Given the description of an element on the screen output the (x, y) to click on. 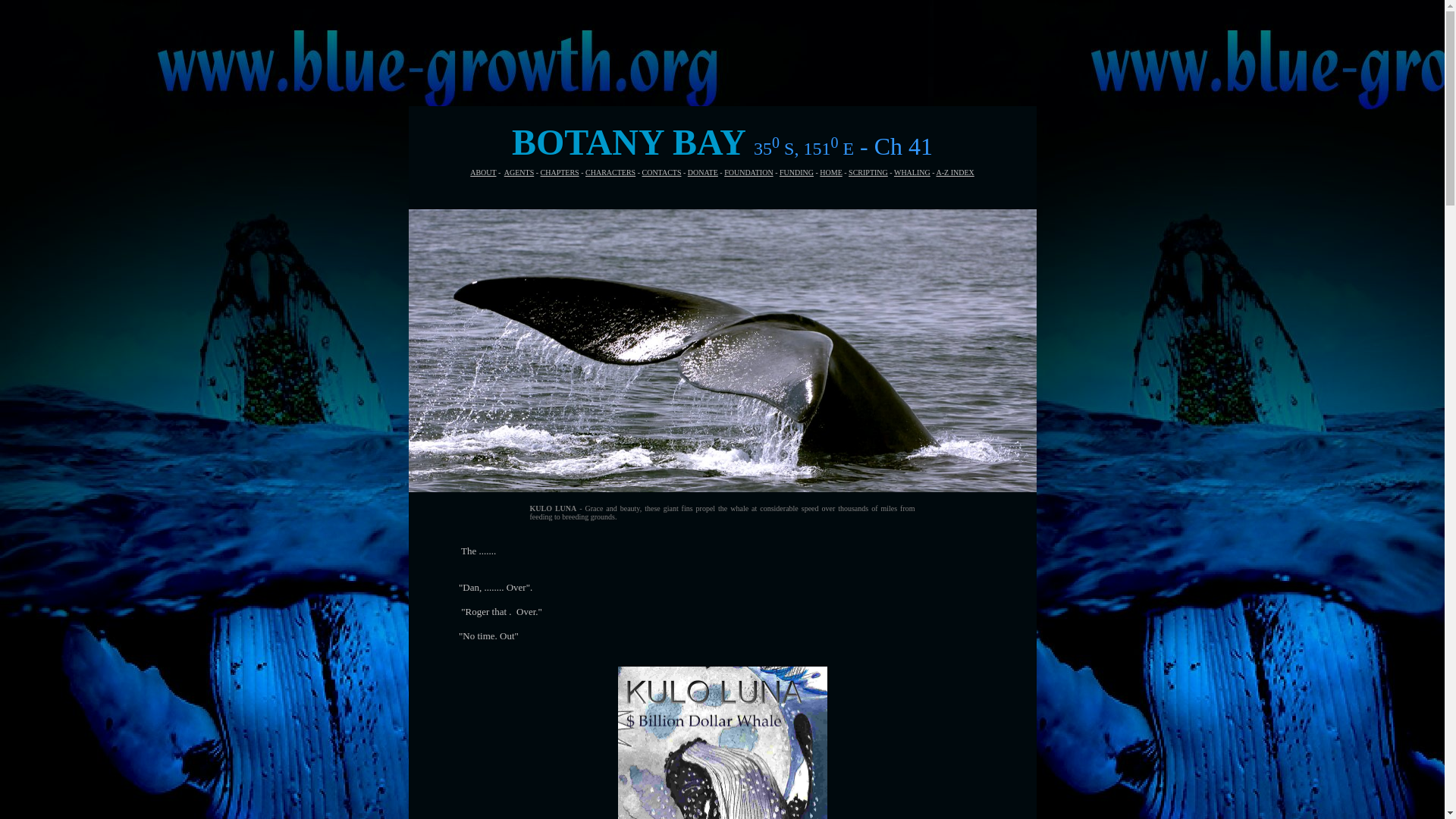
ABOUT (483, 172)
FUNDING (795, 172)
CHARACTERS (609, 172)
CHAPTERS (559, 172)
A-Z INDEX (955, 172)
FOUNDATION (748, 172)
WHALING (911, 172)
AGENTS (518, 172)
HOME (830, 172)
DONATE (702, 172)
CONTACTS (661, 172)
SCRIPTING (868, 172)
